Given the description of an element on the screen output the (x, y) to click on. 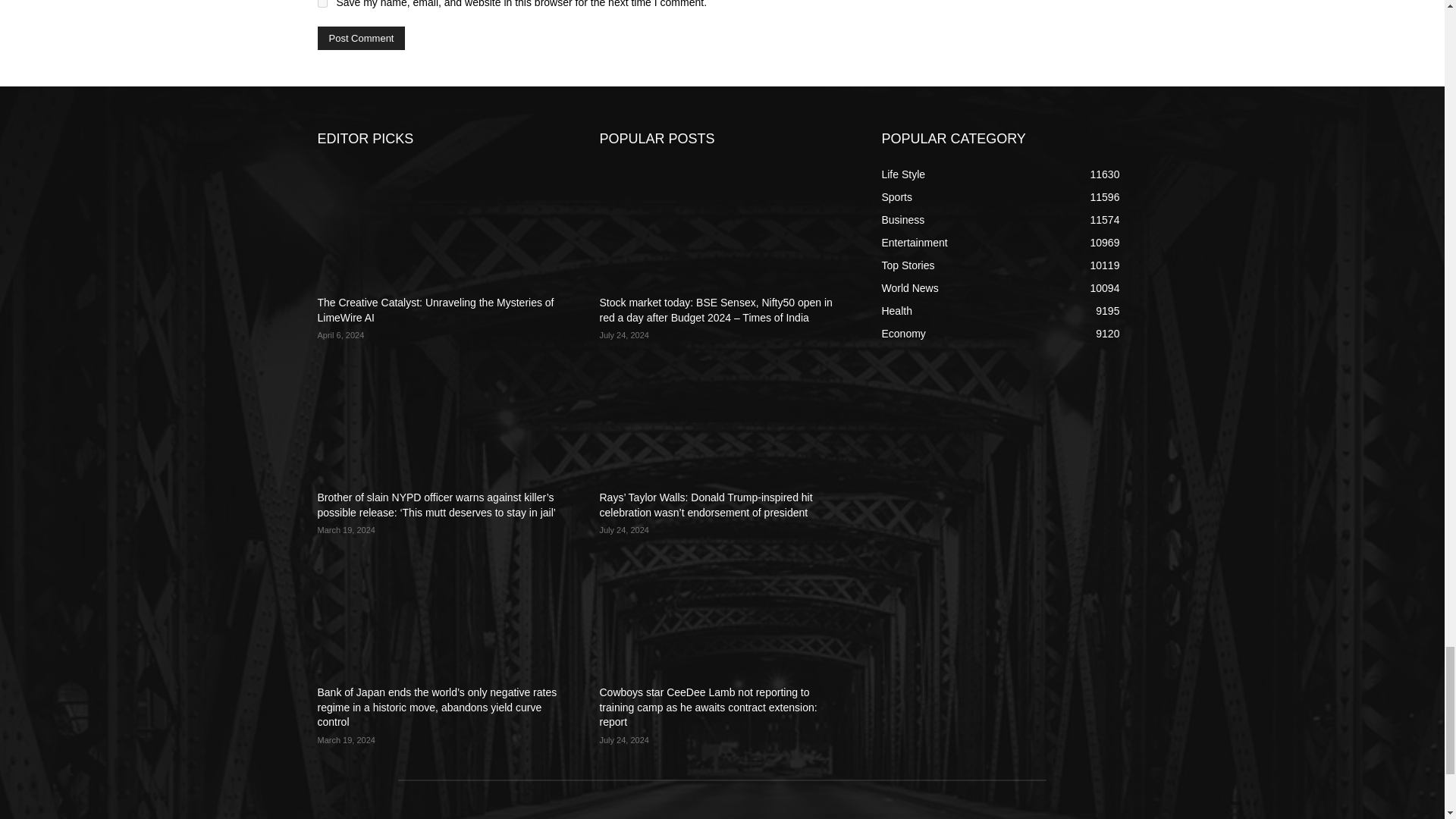
yes (321, 3)
Post Comment (360, 37)
